Given the description of an element on the screen output the (x, y) to click on. 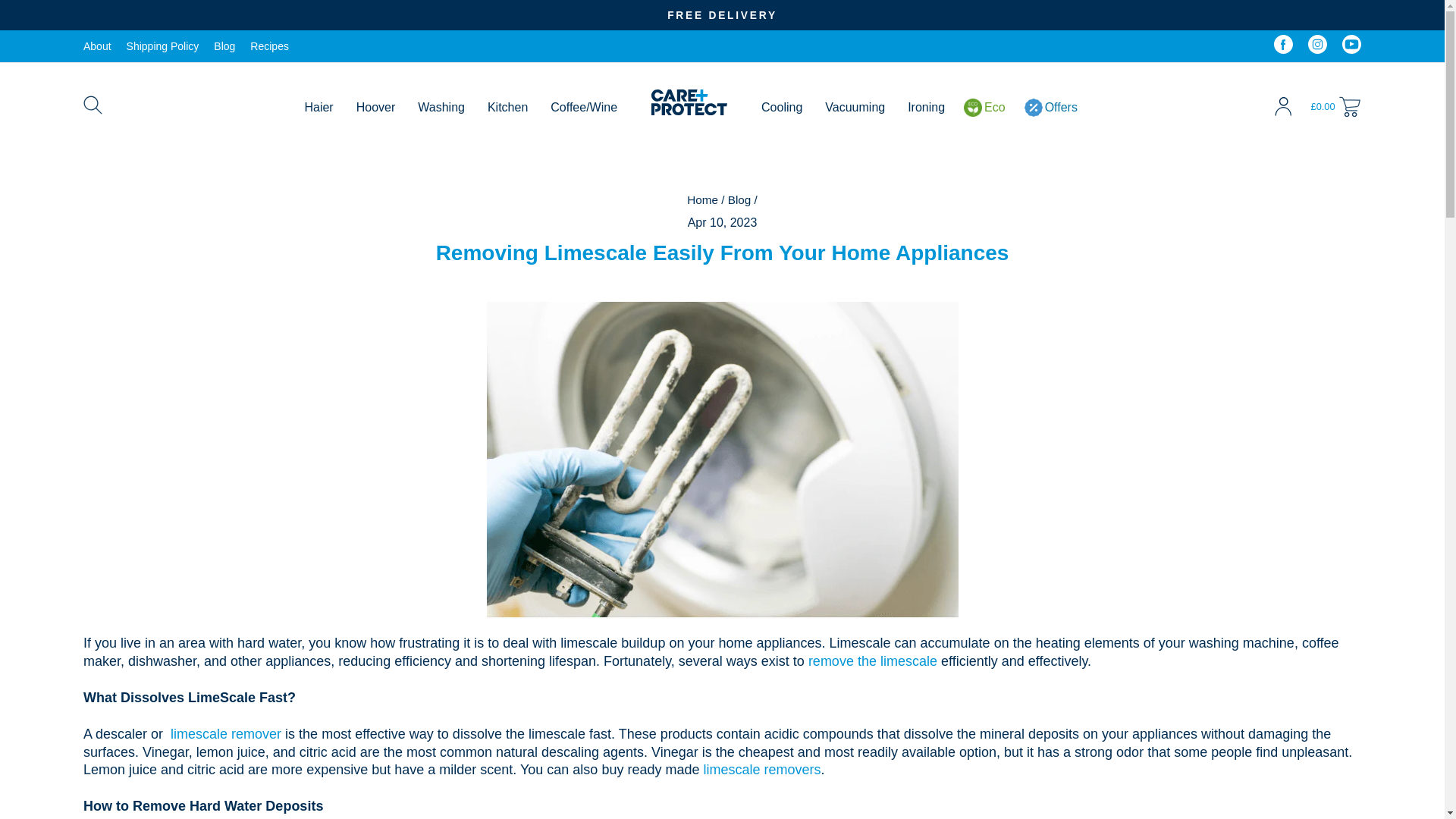
MyCarePlusProtect on Instagram (1316, 45)
MyCarePlusProtect on Facebook (1283, 45)
MyCarePlusProtect on YouTube (1351, 45)
